Given the description of an element on the screen output the (x, y) to click on. 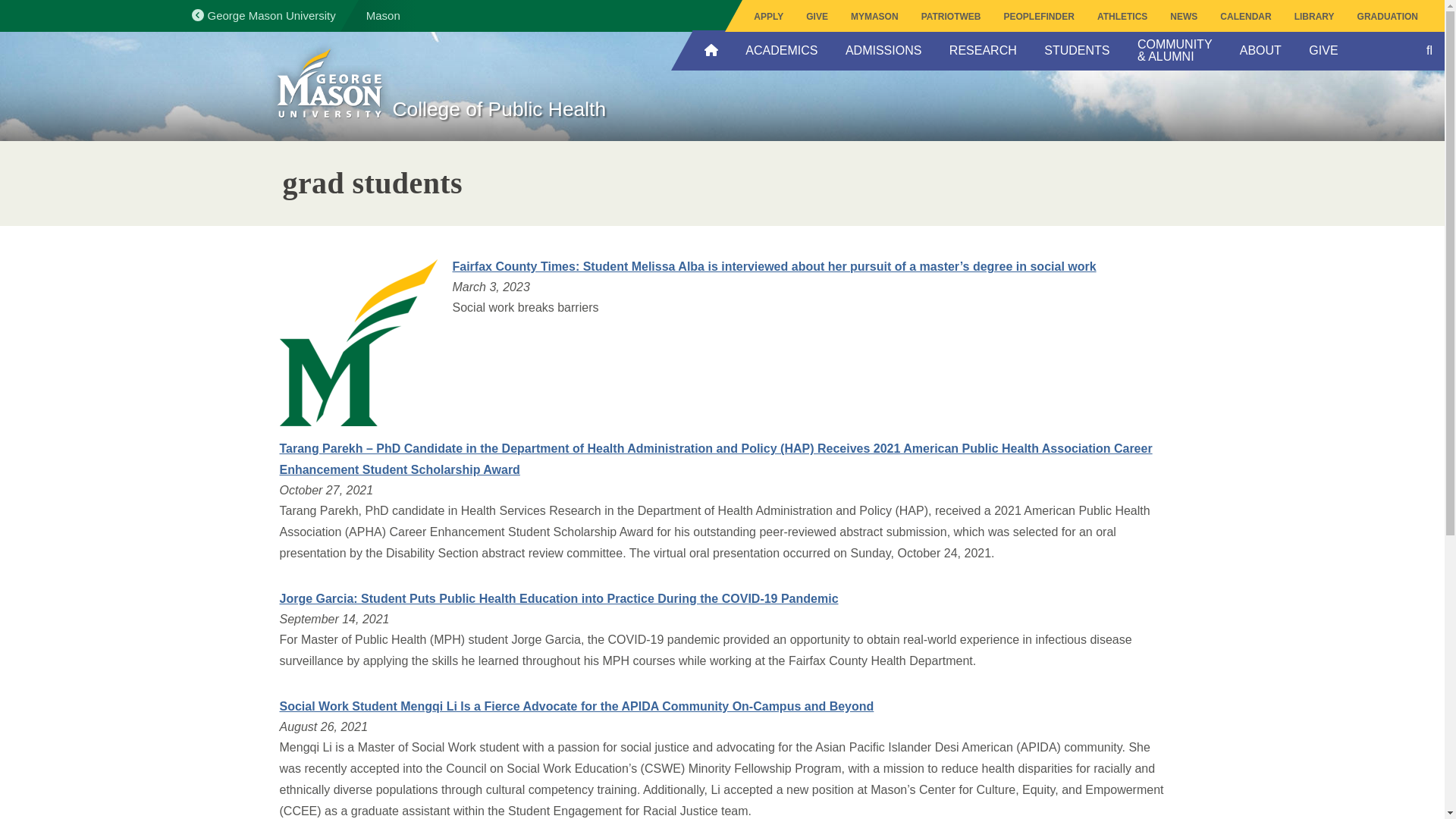
MYMASON (875, 16)
PATRIOTWEB (951, 16)
GIVE (817, 16)
ADMISSIONS (882, 50)
ATHLETICS (1122, 16)
George Mason University (386, 15)
CALENDAR (1245, 16)
Home (328, 84)
APPLY (768, 16)
George Mason University (262, 15)
PEOPLEFINDER (1039, 16)
GRADUATION (1387, 16)
NEWS (1183, 16)
Home (546, 118)
